Given the description of an element on the screen output the (x, y) to click on. 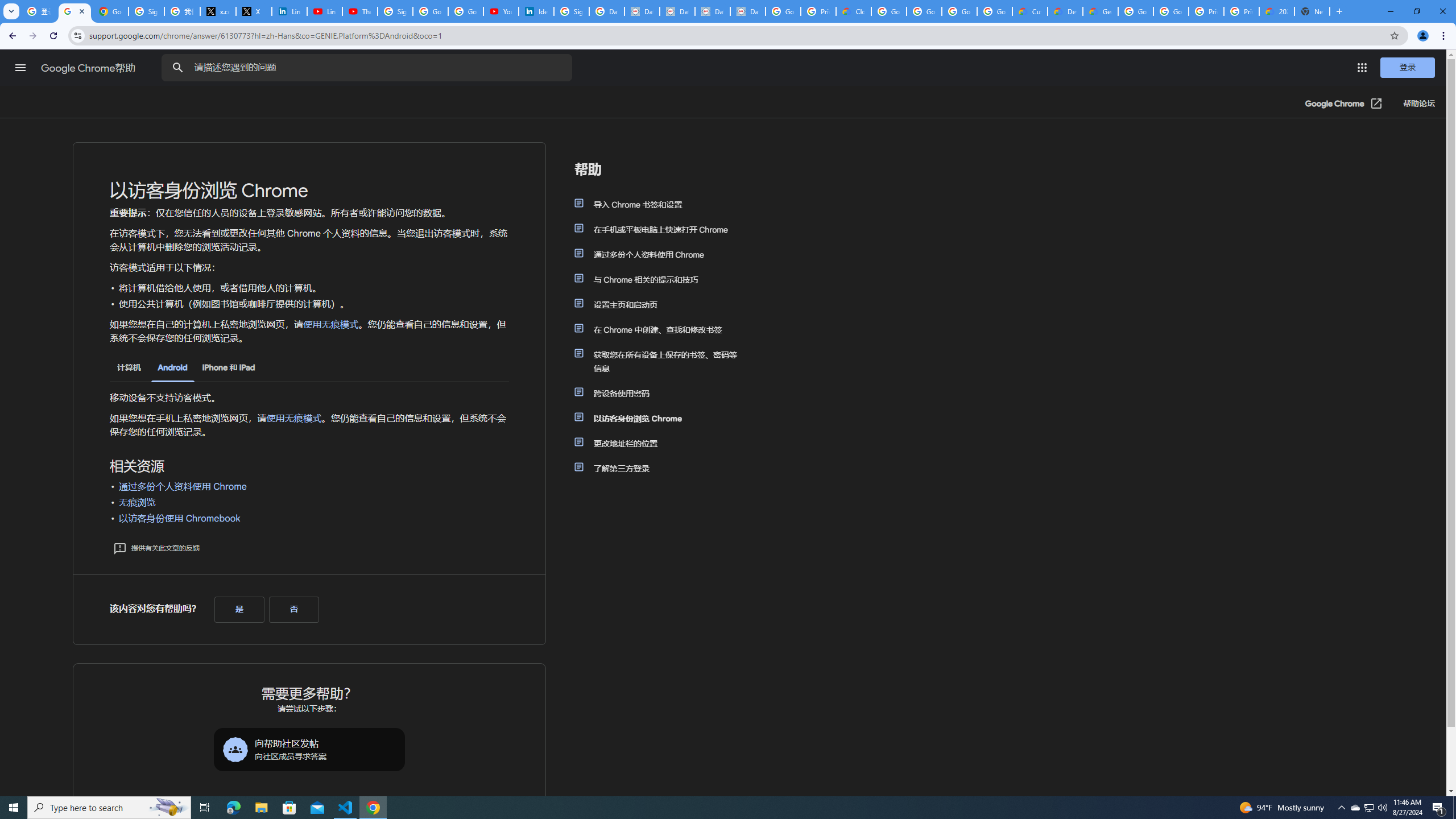
Data Privacy Framework (677, 11)
X (253, 11)
LinkedIn - YouTube (324, 11)
